Given the description of an element on the screen output the (x, y) to click on. 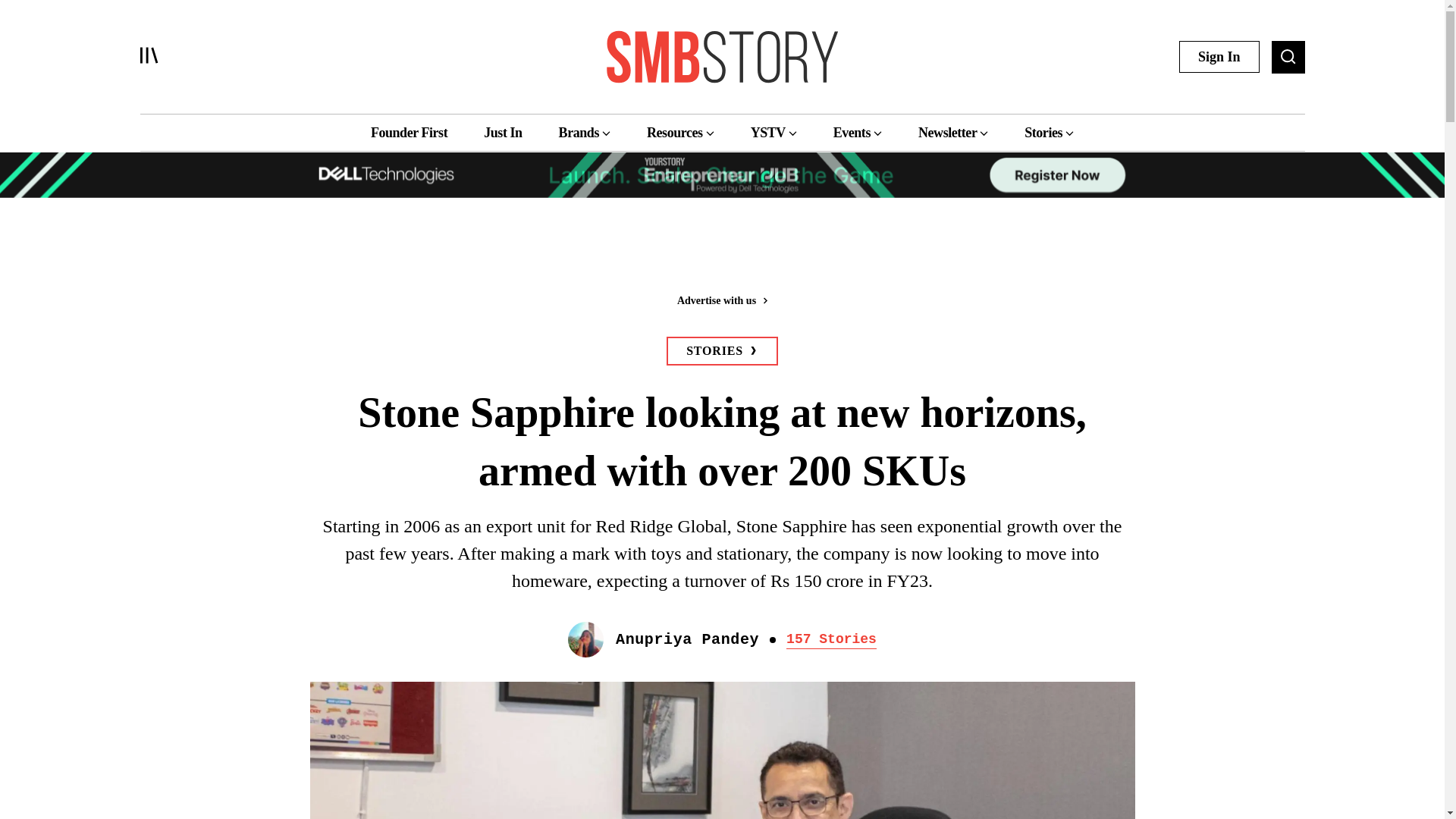
Anupriya Pandey (686, 639)
Advertise with us (721, 300)
3rd party ad content (721, 251)
Just In (502, 132)
STORIES (721, 350)
Founder First (408, 132)
157 Stories (831, 639)
